Given the description of an element on the screen output the (x, y) to click on. 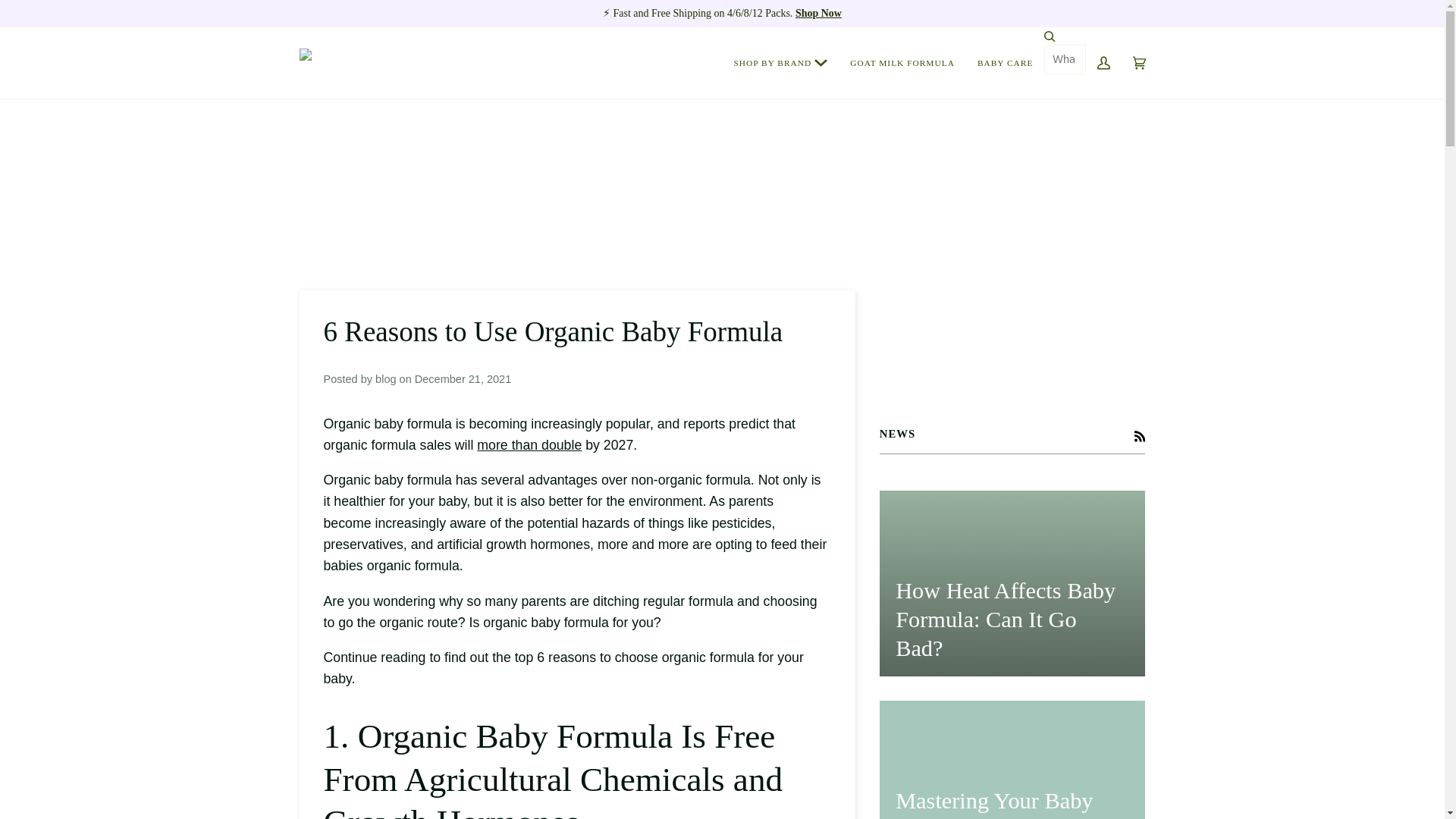
Shop Now (817, 12)
BABY CARE (1004, 62)
GOAT MILK FORMULA (902, 62)
Organic European Baby Formula - Formuland (379, 62)
